Given the description of an element on the screen output the (x, y) to click on. 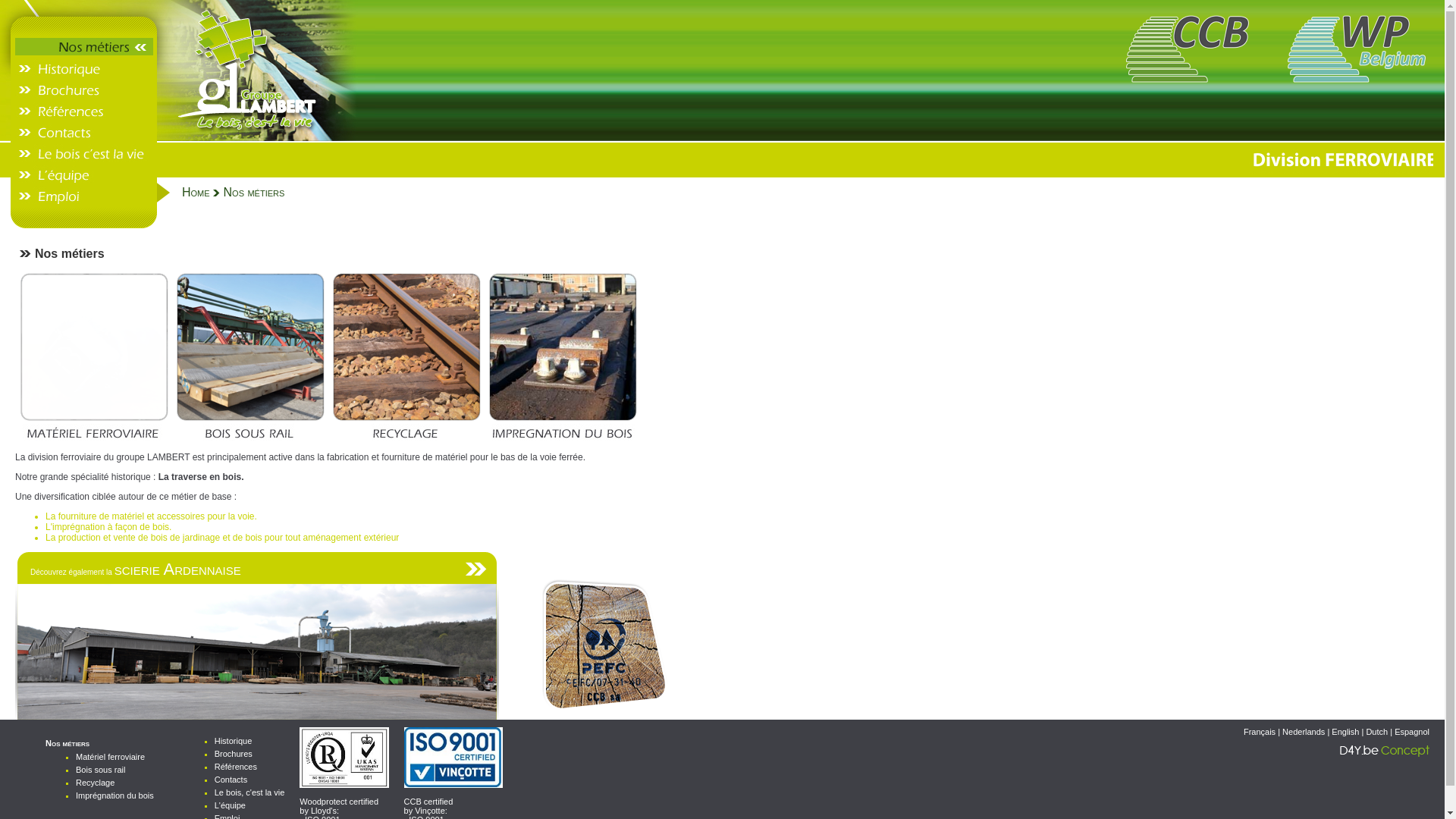
Historique Element type: text (233, 740)
Nederlands Element type: text (1303, 731)
Bois sous rail Element type: text (100, 769)
Dutch Element type: text (1376, 731)
Le bois, c'est la vie Element type: text (249, 792)
English Element type: text (1344, 731)
Home Element type: text (196, 191)
Espagnol Element type: text (1411, 731)
Recyclage Element type: text (94, 782)
Brochures Element type: text (233, 753)
Contacts Element type: text (230, 779)
